Given the description of an element on the screen output the (x, y) to click on. 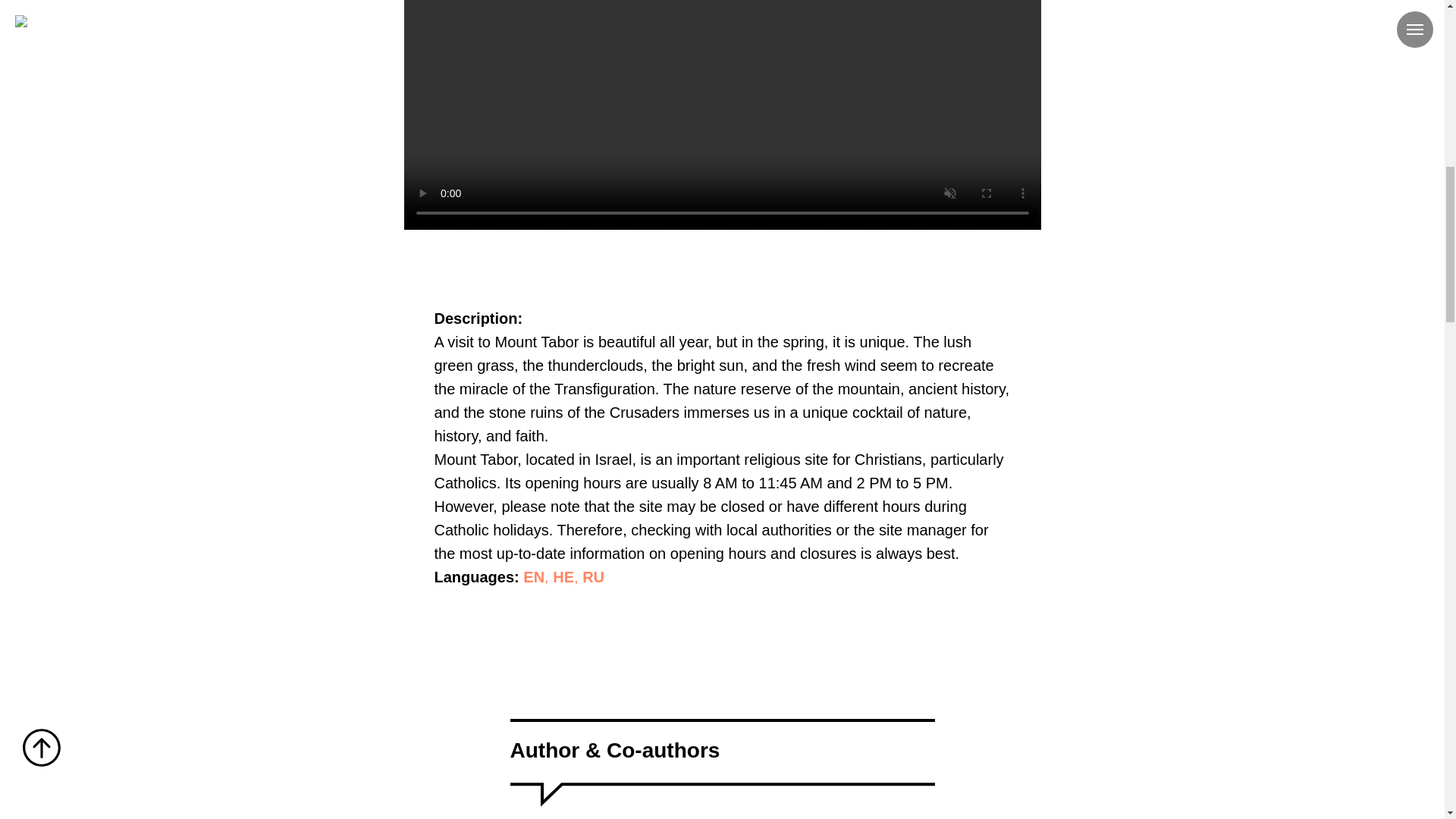
EN, (537, 576)
HE, (567, 576)
RU (593, 576)
